Given the description of an element on the screen output the (x, y) to click on. 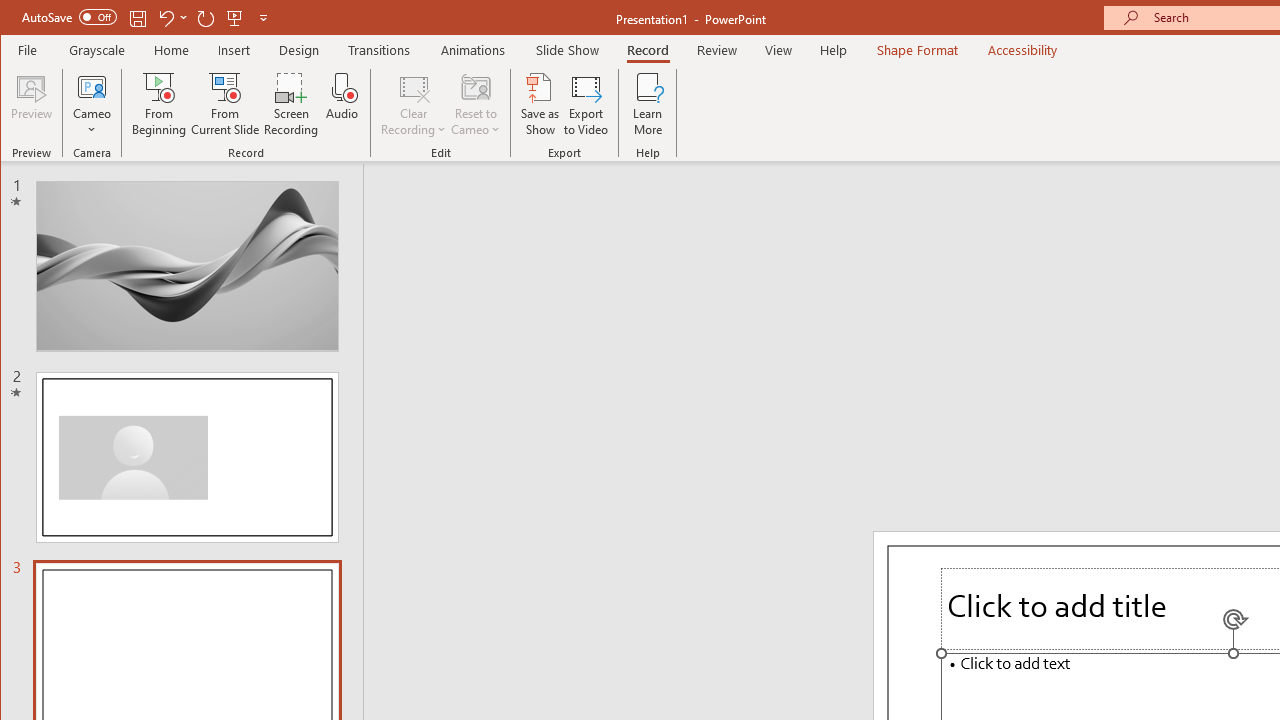
Grayscale (97, 50)
Screen Recording (291, 104)
Reset to Cameo (476, 104)
